Given the description of an element on the screen output the (x, y) to click on. 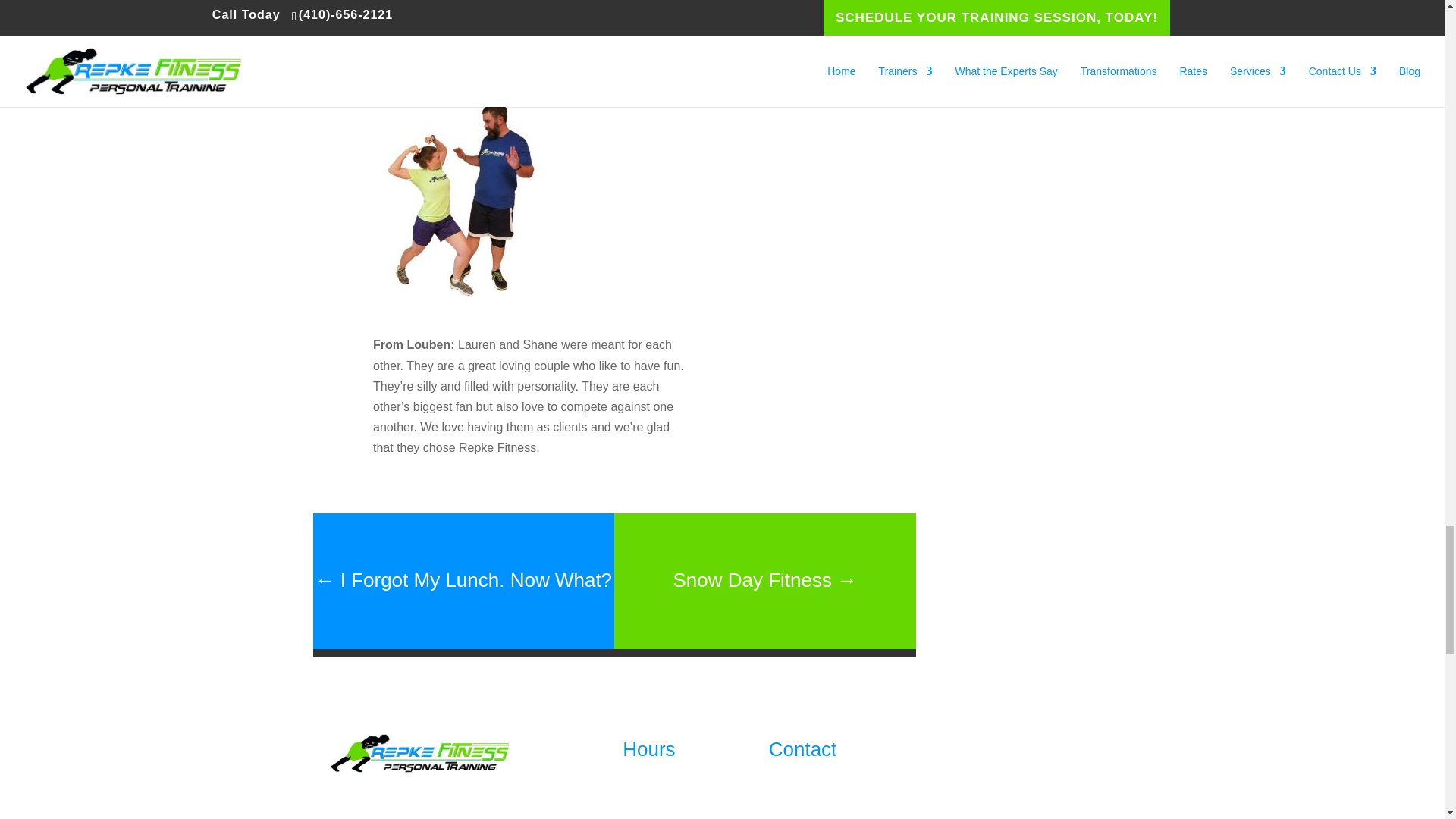
Repke Fitness personal training (419, 752)
